Given the description of an element on the screen output the (x, y) to click on. 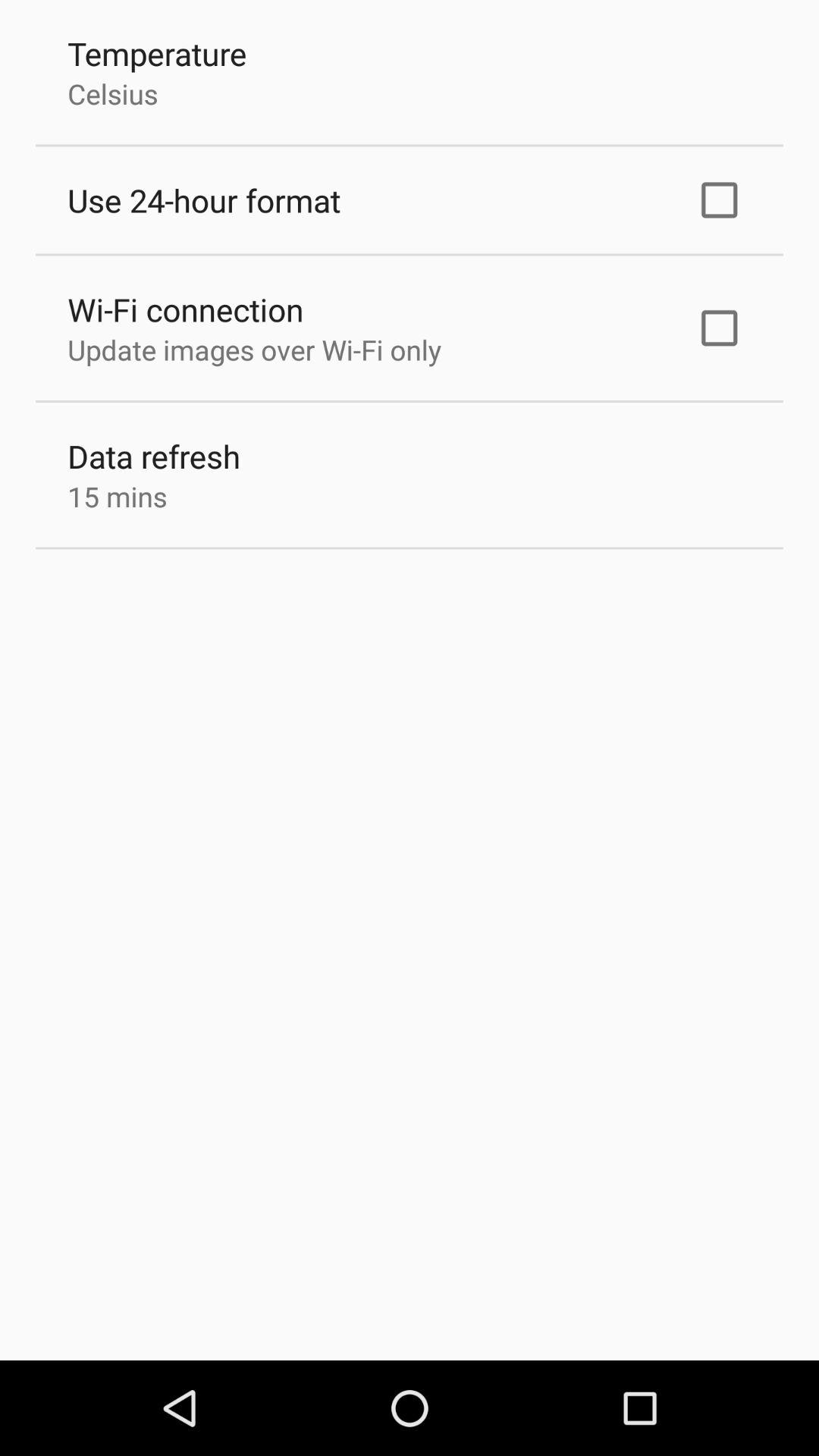
turn off temperature item (156, 53)
